Given the description of an element on the screen output the (x, y) to click on. 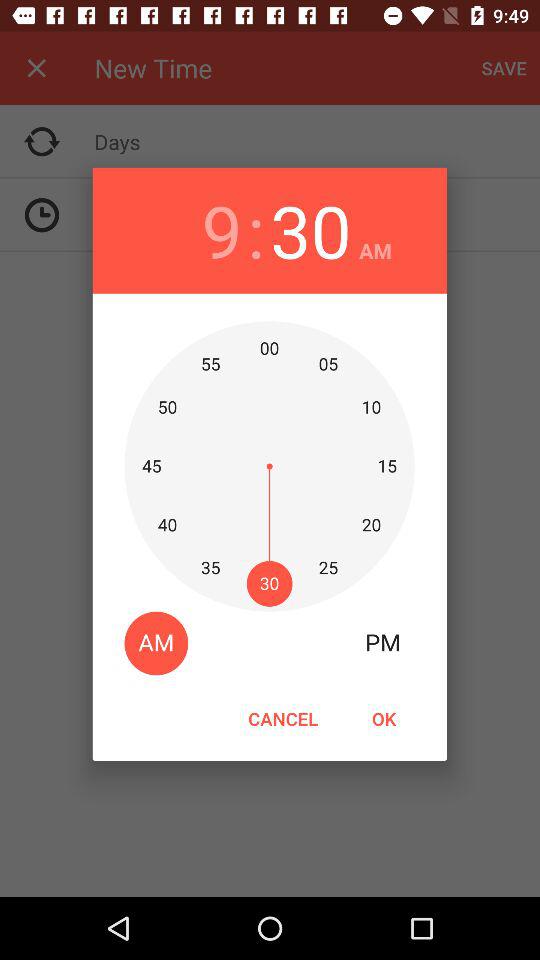
launch the 30 item (310, 230)
